Given the description of an element on the screen output the (x, y) to click on. 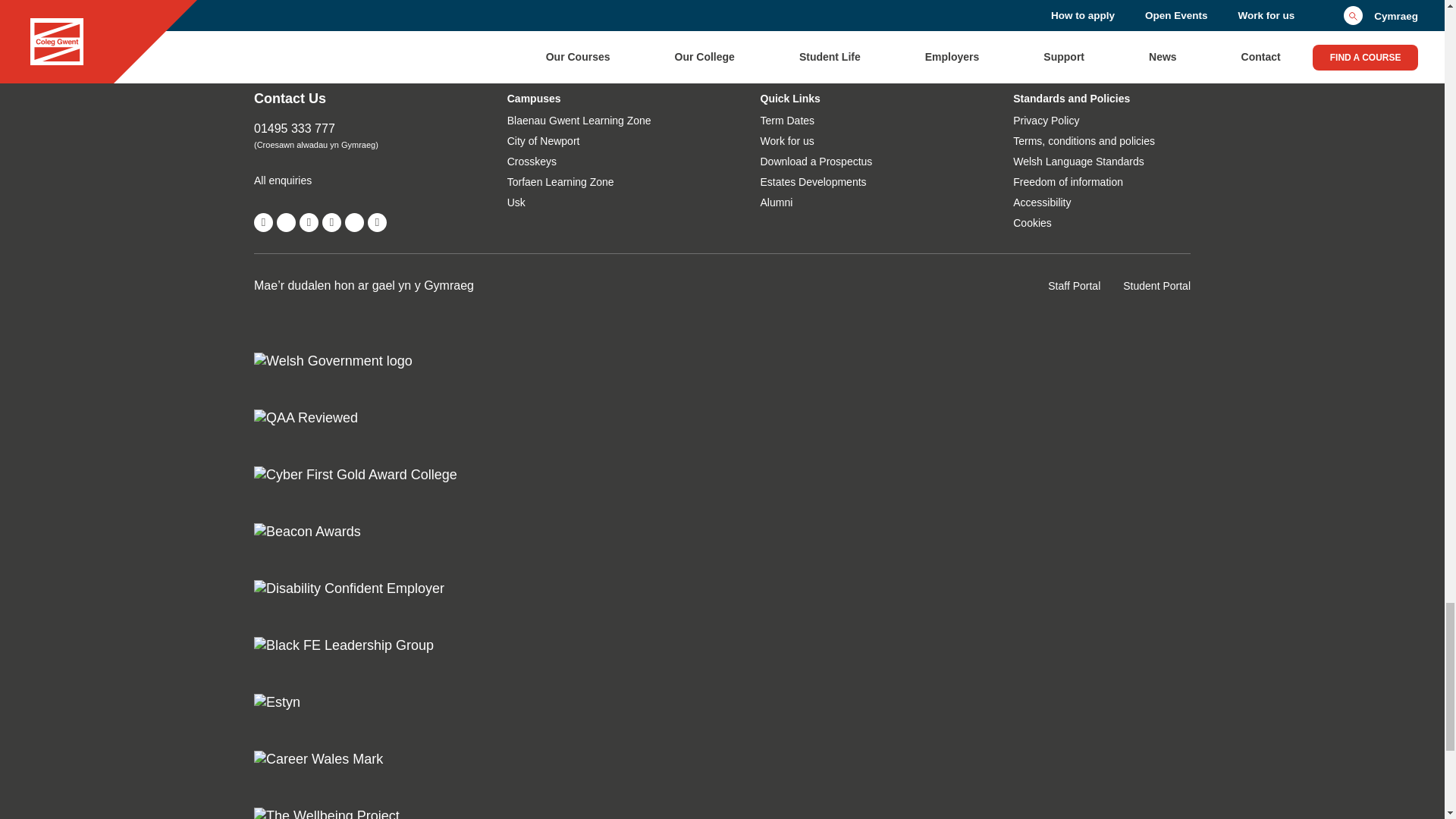
Find us on YouTube (308, 221)
Find us on Twitter (285, 221)
Find us on LinkedIn (377, 221)
Find us on TikTok (354, 221)
Find us on Facebook (263, 221)
Find us on Instagram (330, 221)
Call us on 01495 333 777 (341, 128)
